Given the description of an element on the screen output the (x, y) to click on. 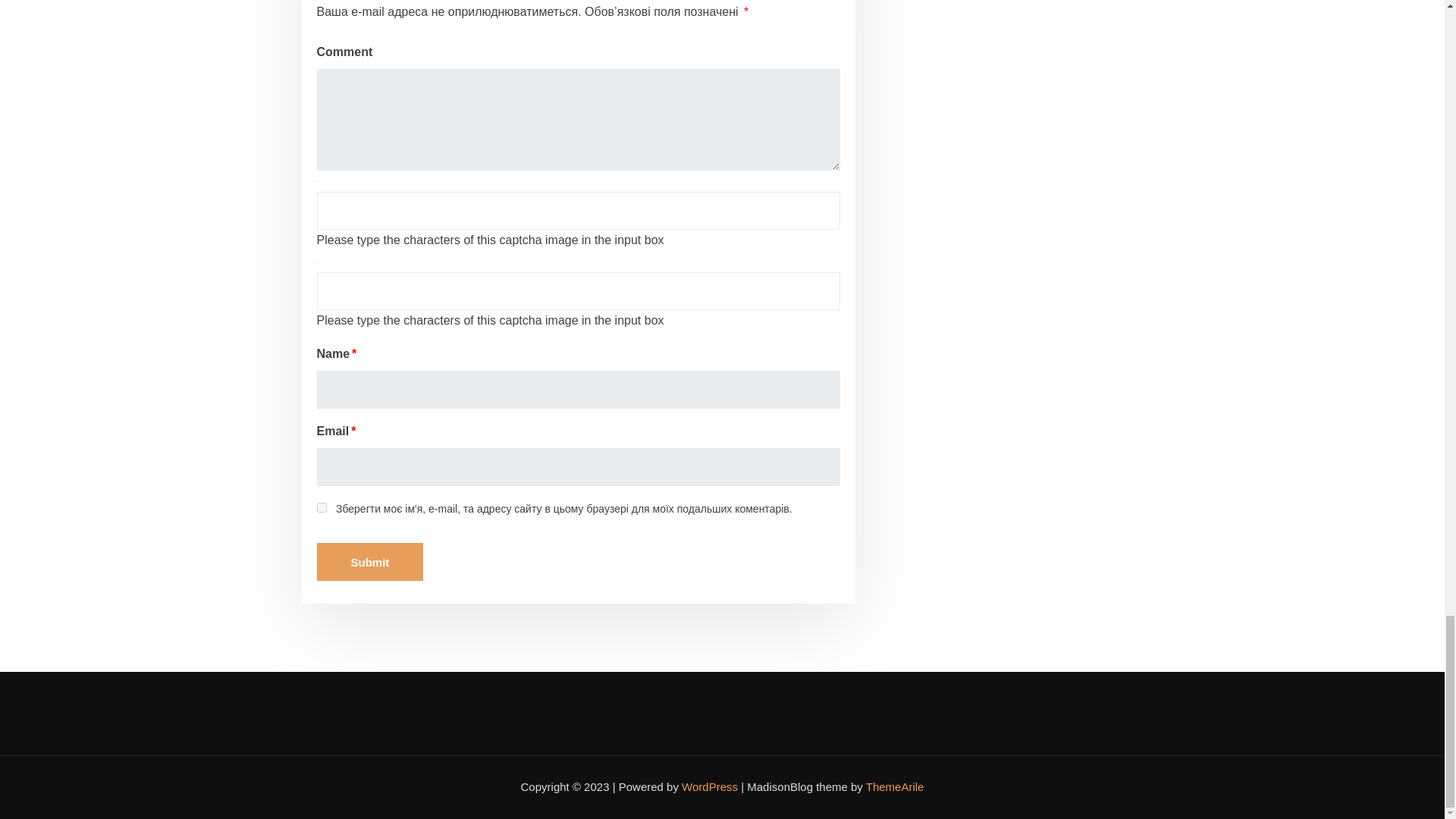
yes (321, 507)
Submit (370, 561)
Submit (370, 561)
